Given the description of an element on the screen output the (x, y) to click on. 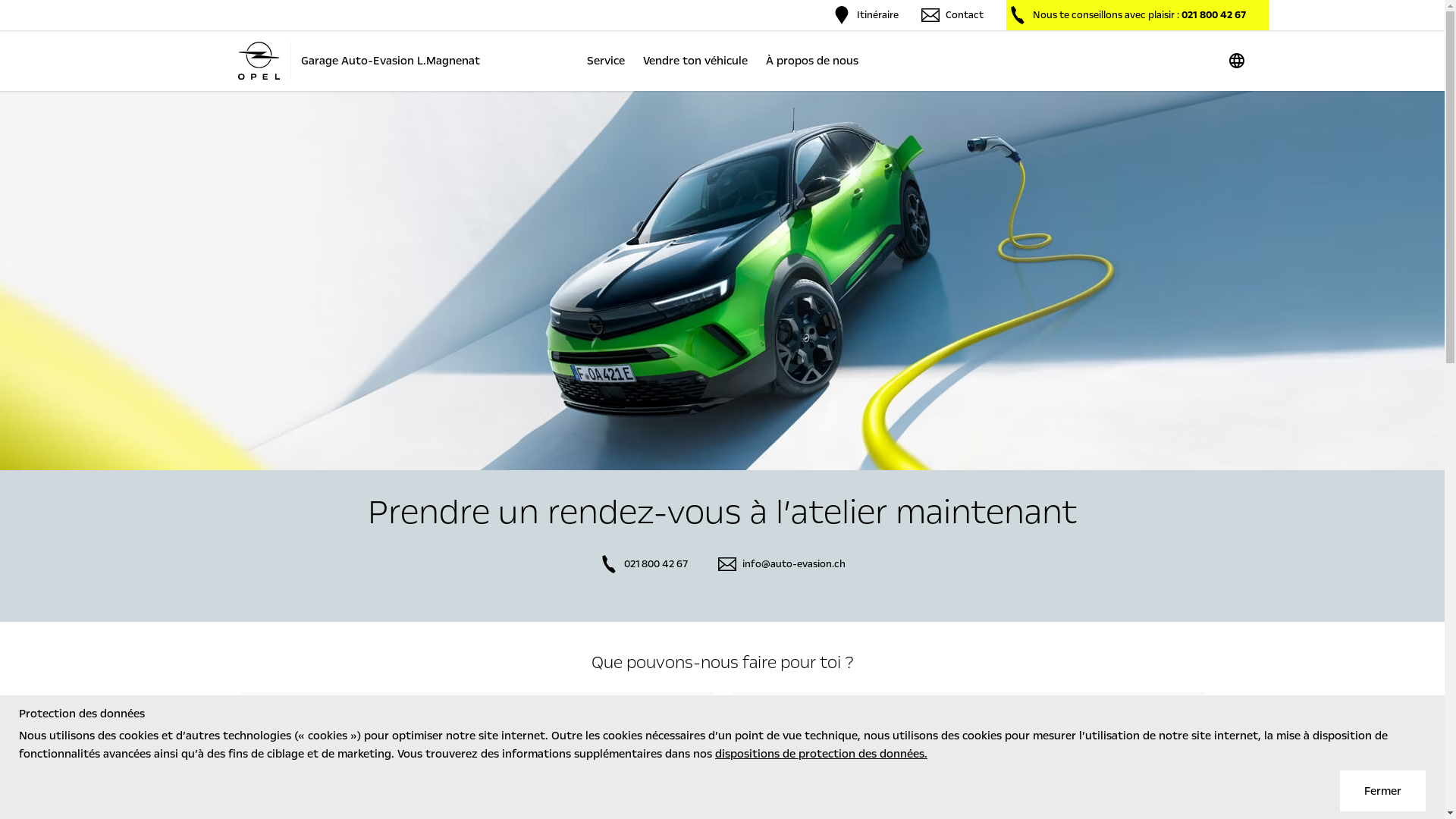
Contact Element type: text (951, 15)
Fermer Element type: text (1382, 790)
Tes interlocuteurs Element type: text (967, 726)
Nous te conseillons avec plaisir : 
021 800 42 67 Element type: text (1136, 15)
Service Element type: text (605, 60)
Comment nous trouver Element type: text (475, 726)
info@auto-evasion.ch Element type: text (780, 564)
021 800 42 67 Element type: text (643, 564)
Image Hero du site Opel Dealer Element type: hover (722, 280)
Garage Auto-Evasion L.Magnenat Element type: text (357, 60)
